Given the description of an element on the screen output the (x, y) to click on. 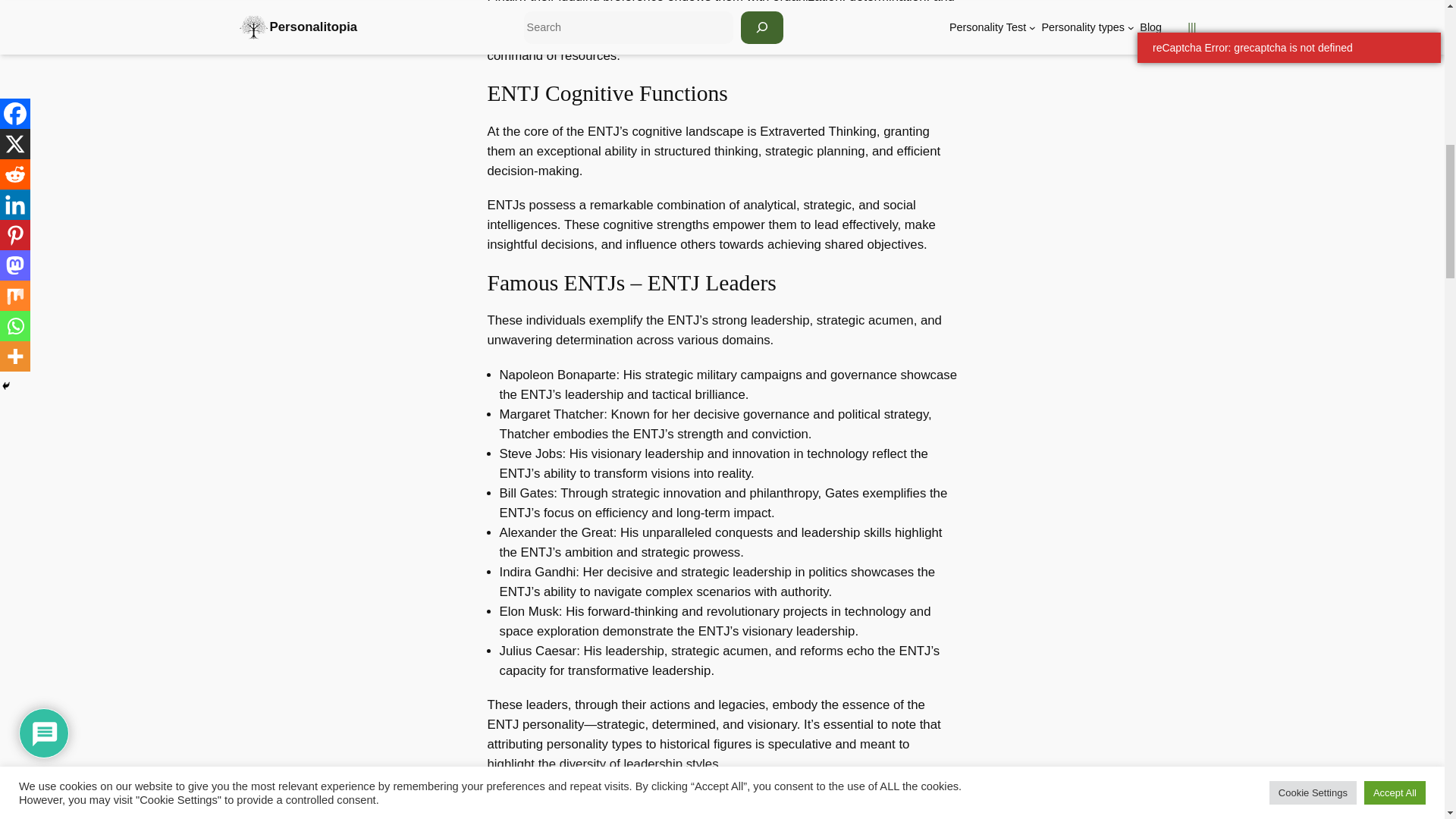
judging (577, 2)
